Given the description of an element on the screen output the (x, y) to click on. 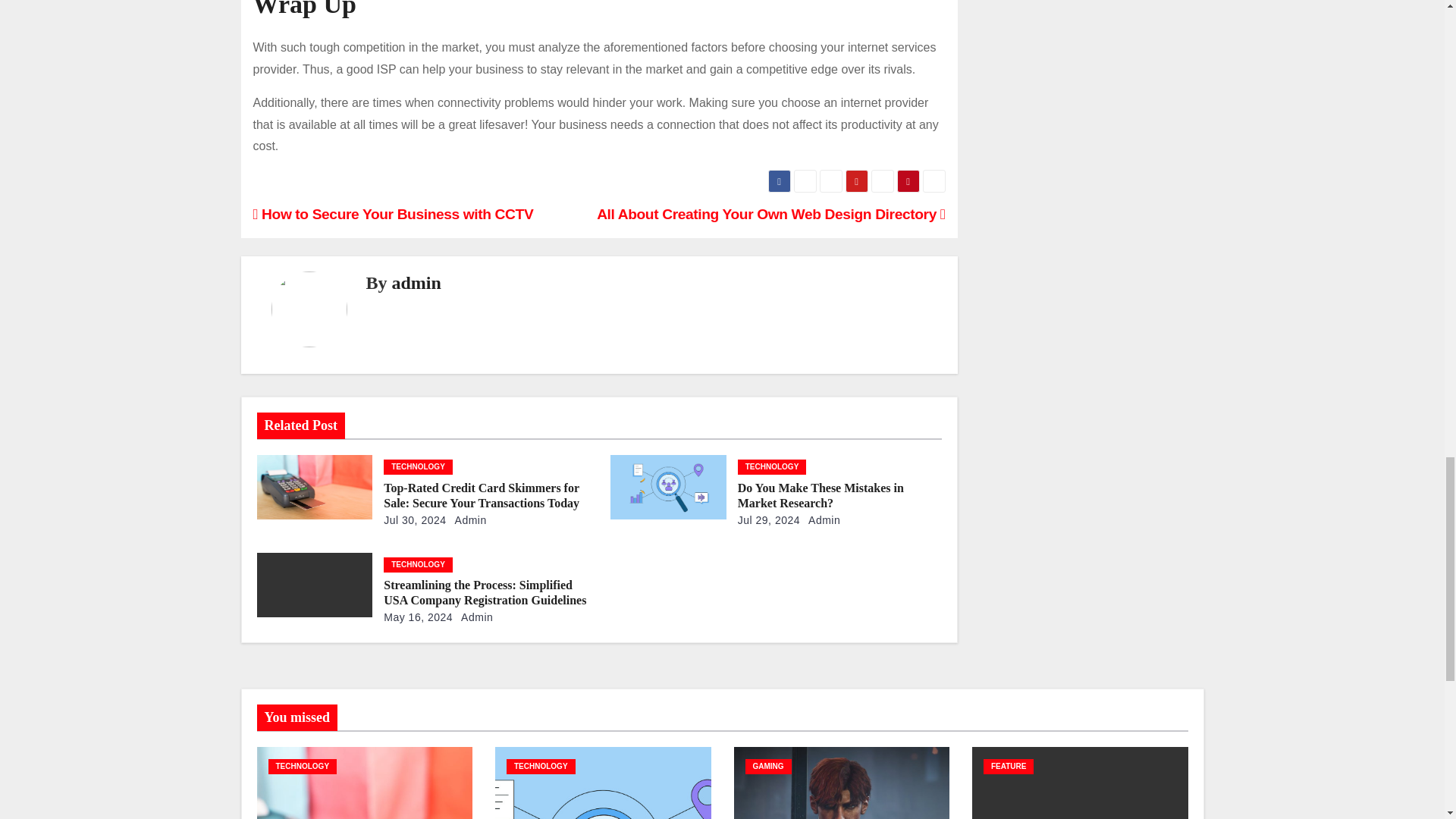
Admin (821, 520)
Jul 30, 2024 (414, 520)
All About Creating Your Own Web Design Directory (770, 213)
Permalink to: Do You Make These Mistakes in Market Research? (821, 495)
admin (416, 282)
Jul 29, 2024 (768, 520)
How to Secure Your Business with CCTV (393, 213)
